Given the description of an element on the screen output the (x, y) to click on. 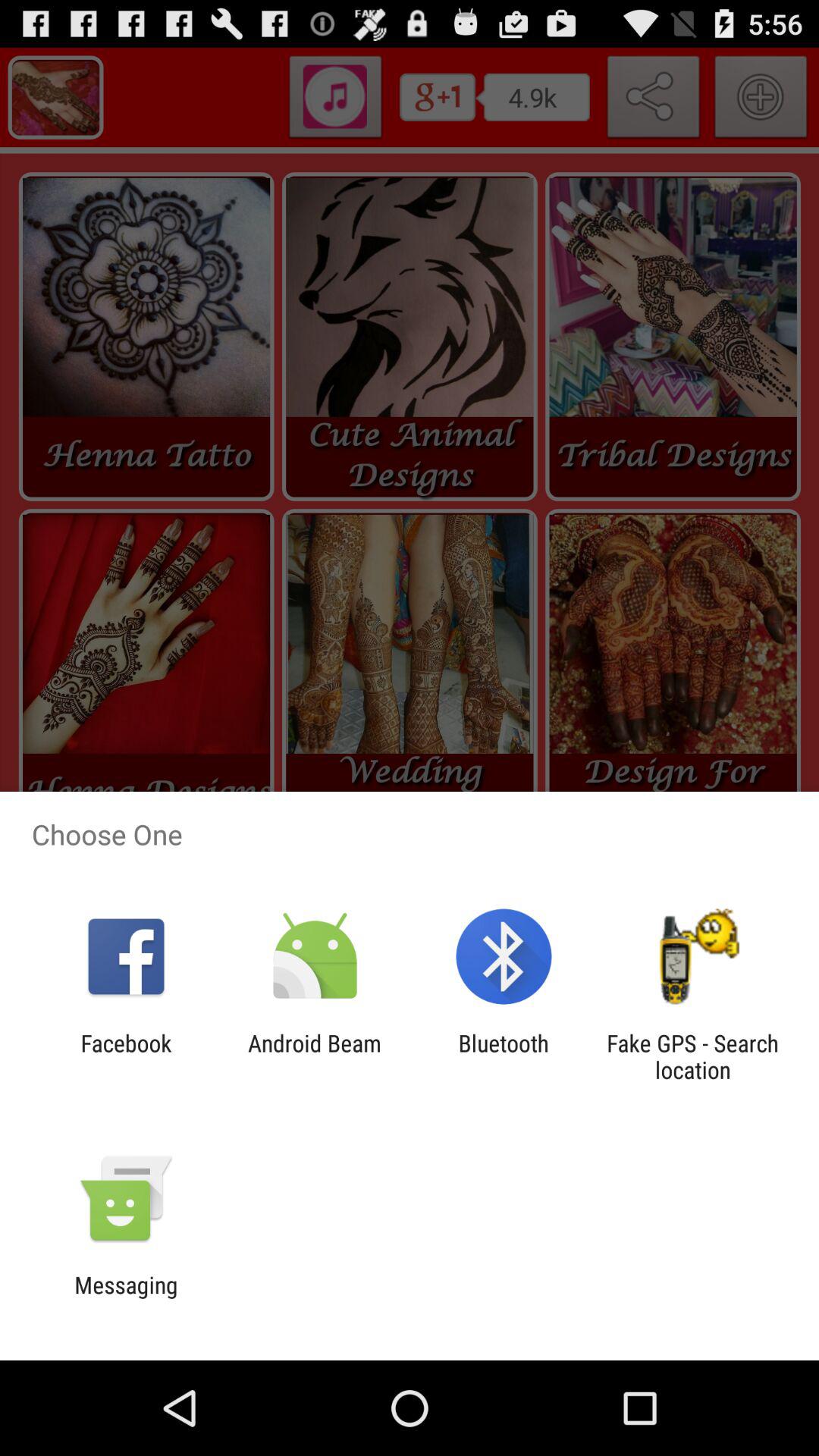
flip to messaging (126, 1298)
